Given the description of an element on the screen output the (x, y) to click on. 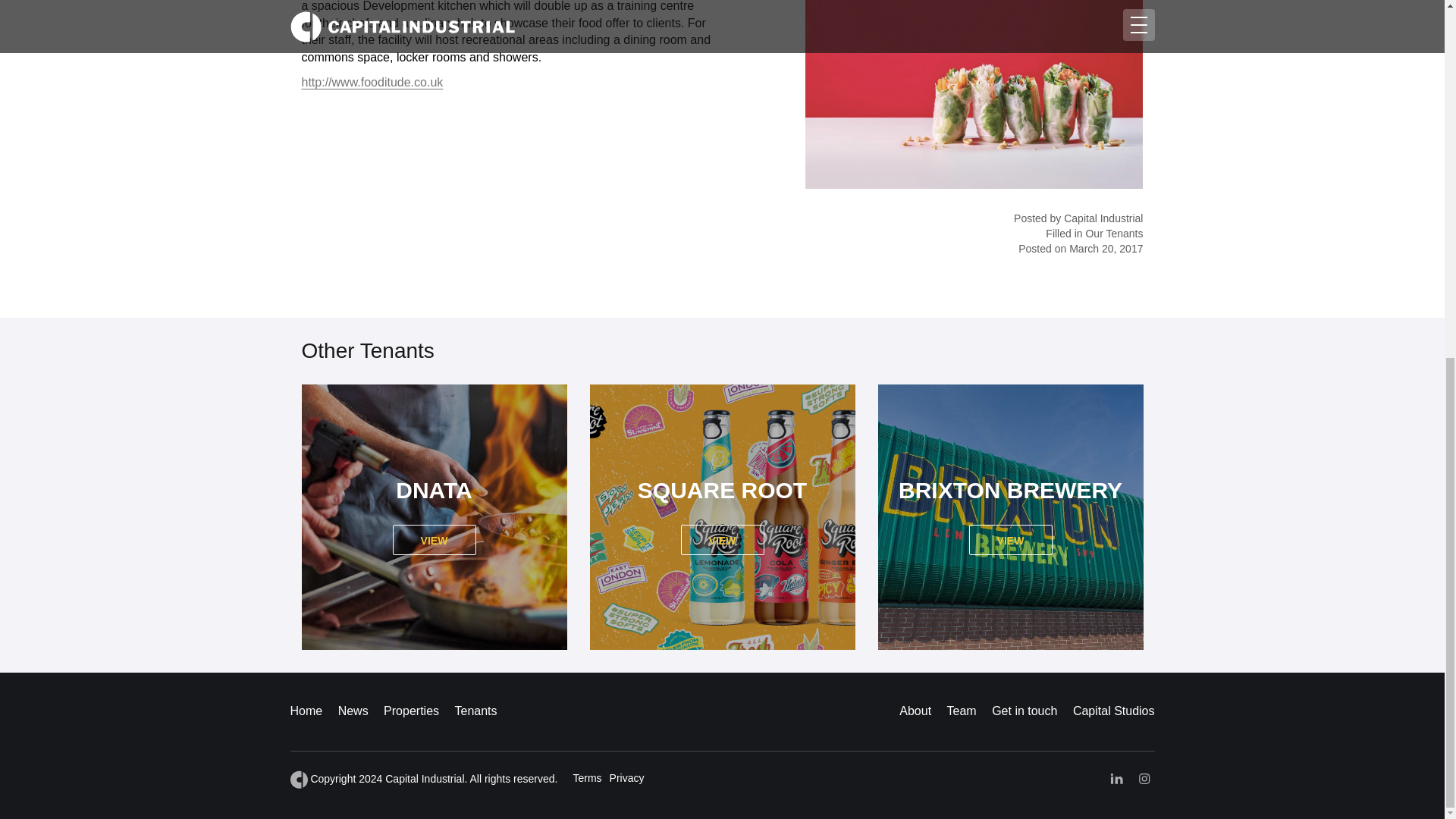
Tenants (475, 710)
Properties (411, 710)
Privacy (627, 777)
Terms (586, 777)
See Fooditude (1010, 539)
See Fooditude (434, 539)
See Fooditude (722, 539)
VIEW (1010, 539)
VIEW (434, 539)
About (915, 710)
Capital Studios (1113, 710)
News (352, 710)
VIEW (722, 539)
Get in touch (1024, 710)
Home (305, 710)
